Given the description of an element on the screen output the (x, y) to click on. 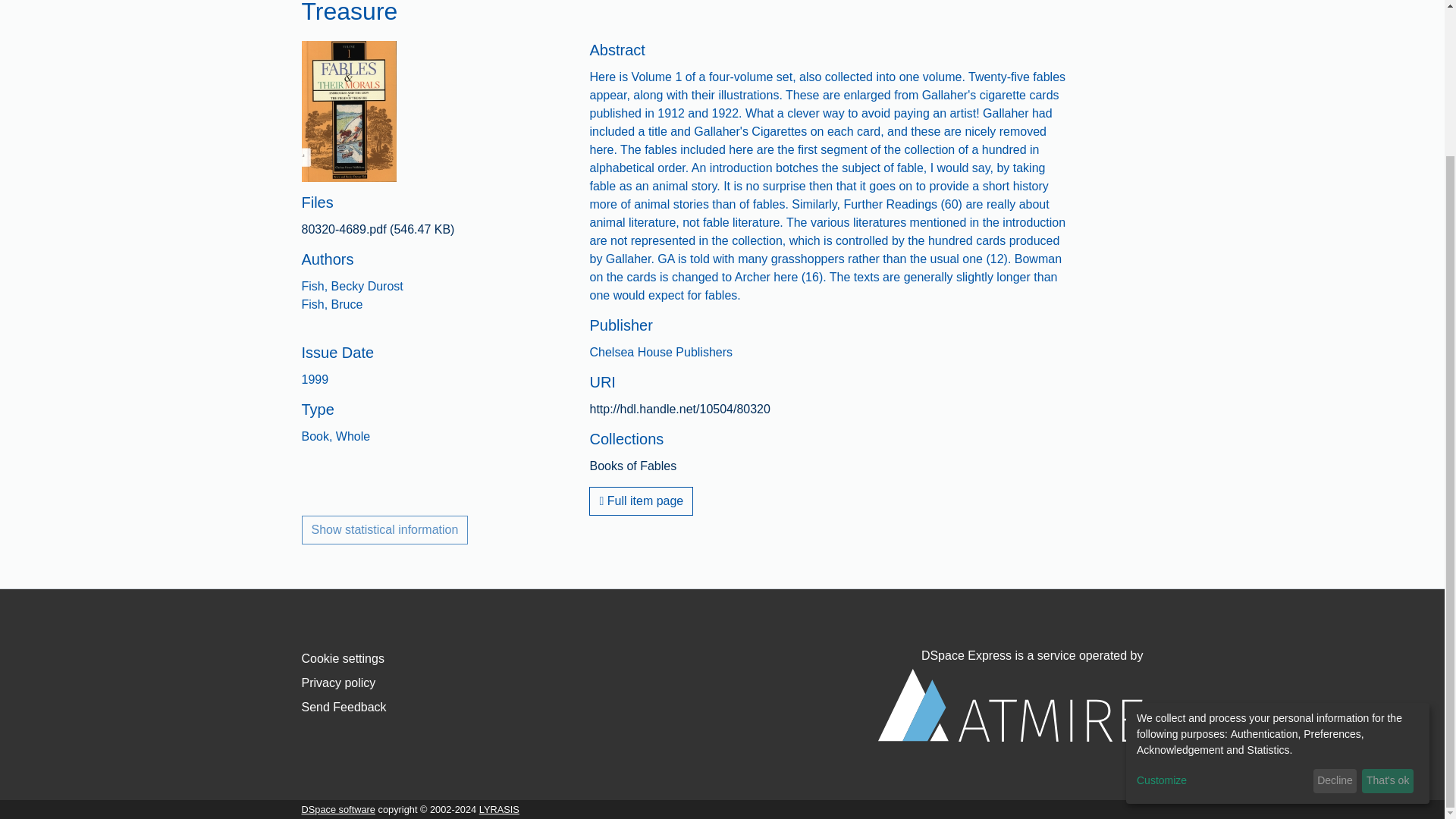
Send Feedback (344, 707)
Cookie settings (342, 658)
DSpace Express is a service operated by (1009, 695)
Full item page (641, 500)
Privacy policy (338, 682)
Books of Fables (633, 465)
That's ok (1387, 598)
Show statistical information (384, 529)
Customize (1222, 598)
Decline (1334, 598)
DSpace software (338, 808)
LYRASIS (499, 808)
